Given the description of an element on the screen output the (x, y) to click on. 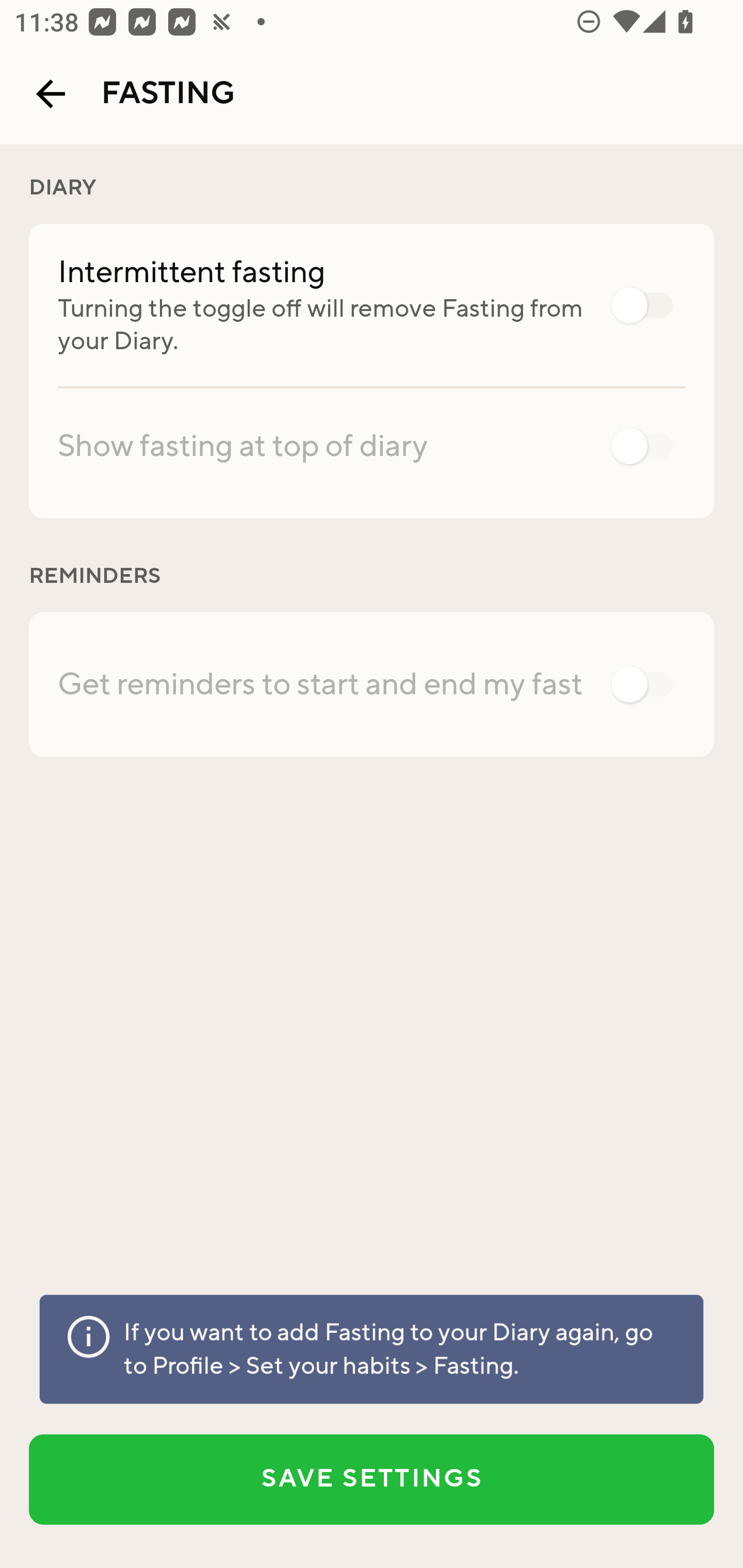
SAVE SETTINGS (371, 1479)
